Given the description of an element on the screen output the (x, y) to click on. 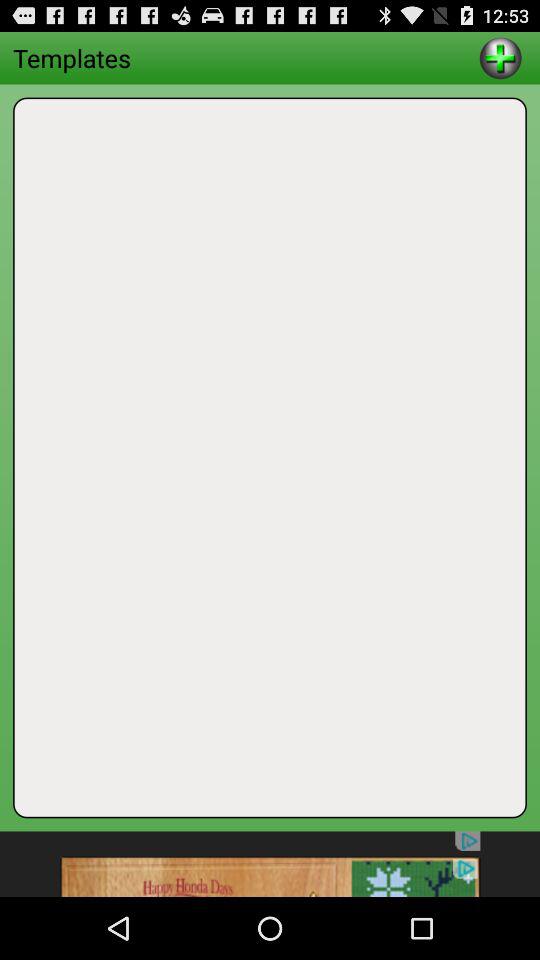
new template (500, 57)
